Given the description of an element on the screen output the (x, y) to click on. 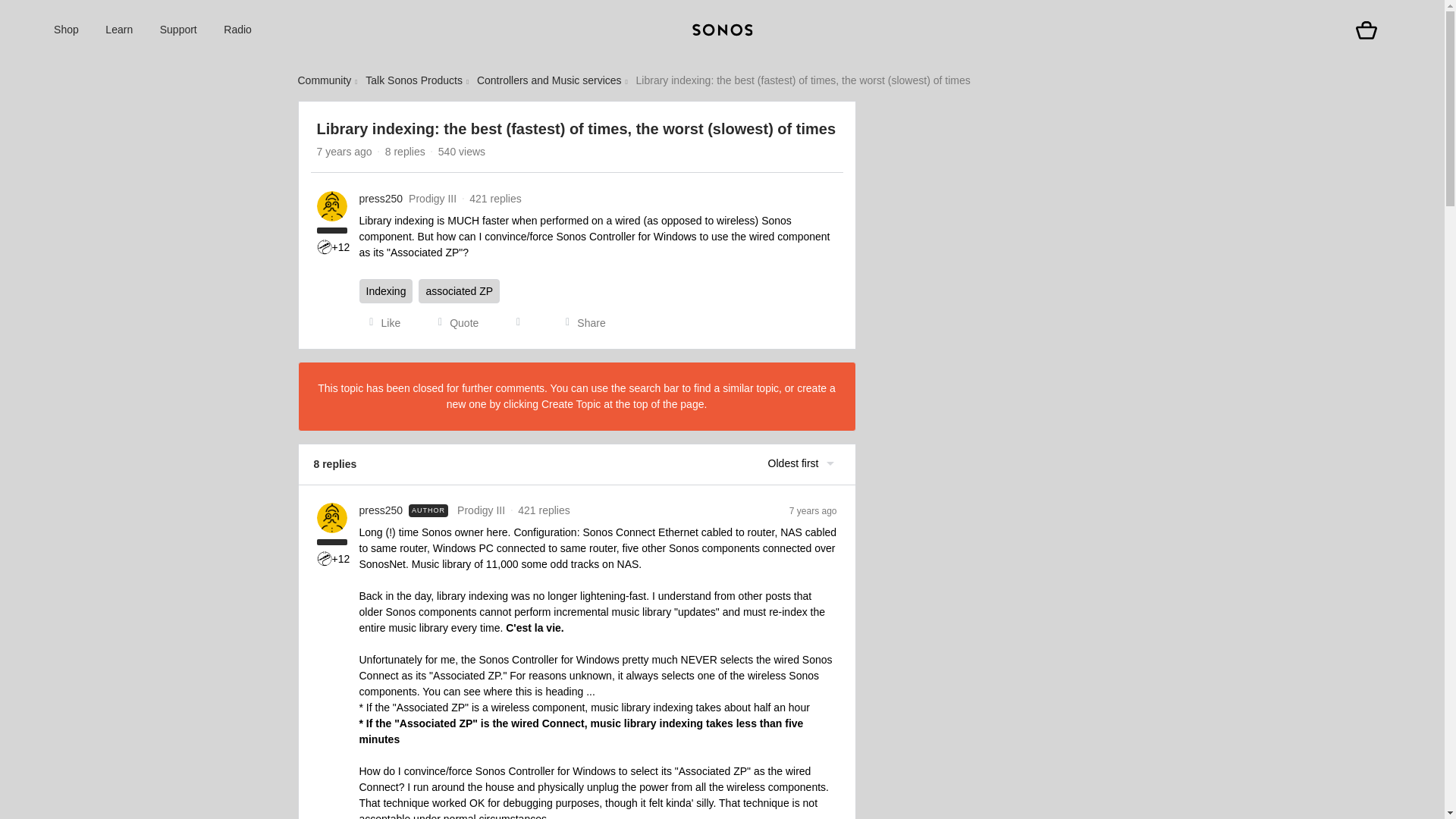
Support (178, 30)
Indexing (386, 291)
press250 (381, 510)
Controllers and Music services (549, 80)
8 replies (405, 151)
press250 (381, 198)
Talk Sonos Products (414, 80)
Amping it up III (324, 246)
press250 (381, 198)
Shop (65, 30)
Amping it up III (324, 558)
Learn (118, 30)
Radio (237, 30)
Community (323, 80)
